Given the description of an element on the screen output the (x, y) to click on. 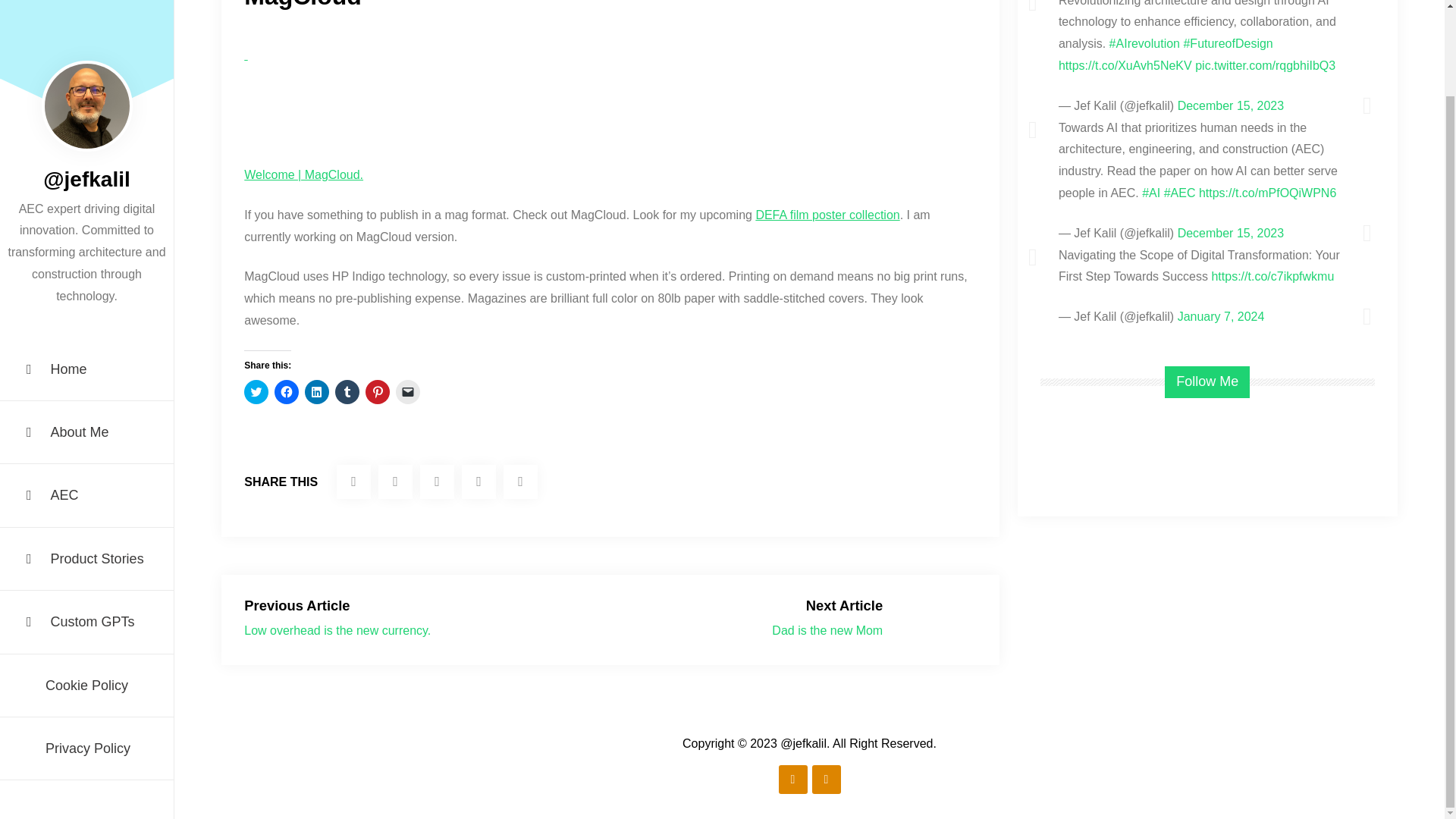
Share on Facebook (395, 481)
Home (86, 271)
About Me (86, 334)
Share on Stumbleupon (437, 481)
Privacy Policy (86, 650)
Click to share on Tumblr (346, 392)
Click to share on LinkedIn (316, 392)
Click to share on Facebook (286, 392)
Dad is the new Mom (826, 630)
Share on LinkedIn (478, 481)
